Given the description of an element on the screen output the (x, y) to click on. 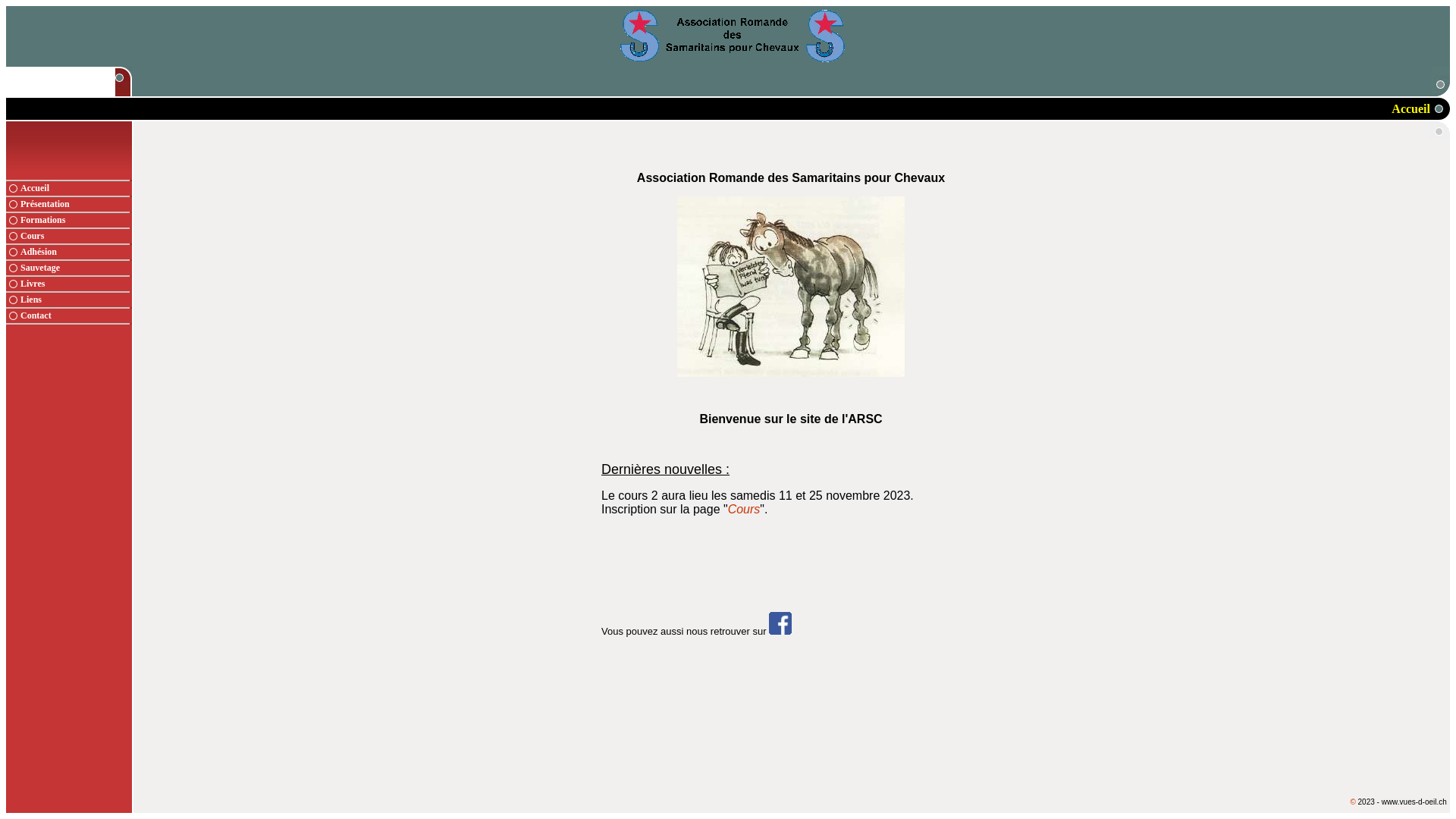
Cours Element type: text (744, 508)
Livres Element type: text (75, 283)
Sauvetage Element type: text (75, 267)
Liens Element type: text (75, 299)
Contact Element type: text (75, 315)
Formations Element type: text (75, 219)
Cours Element type: text (75, 235)
Accueil Element type: text (75, 188)
